Given the description of an element on the screen output the (x, y) to click on. 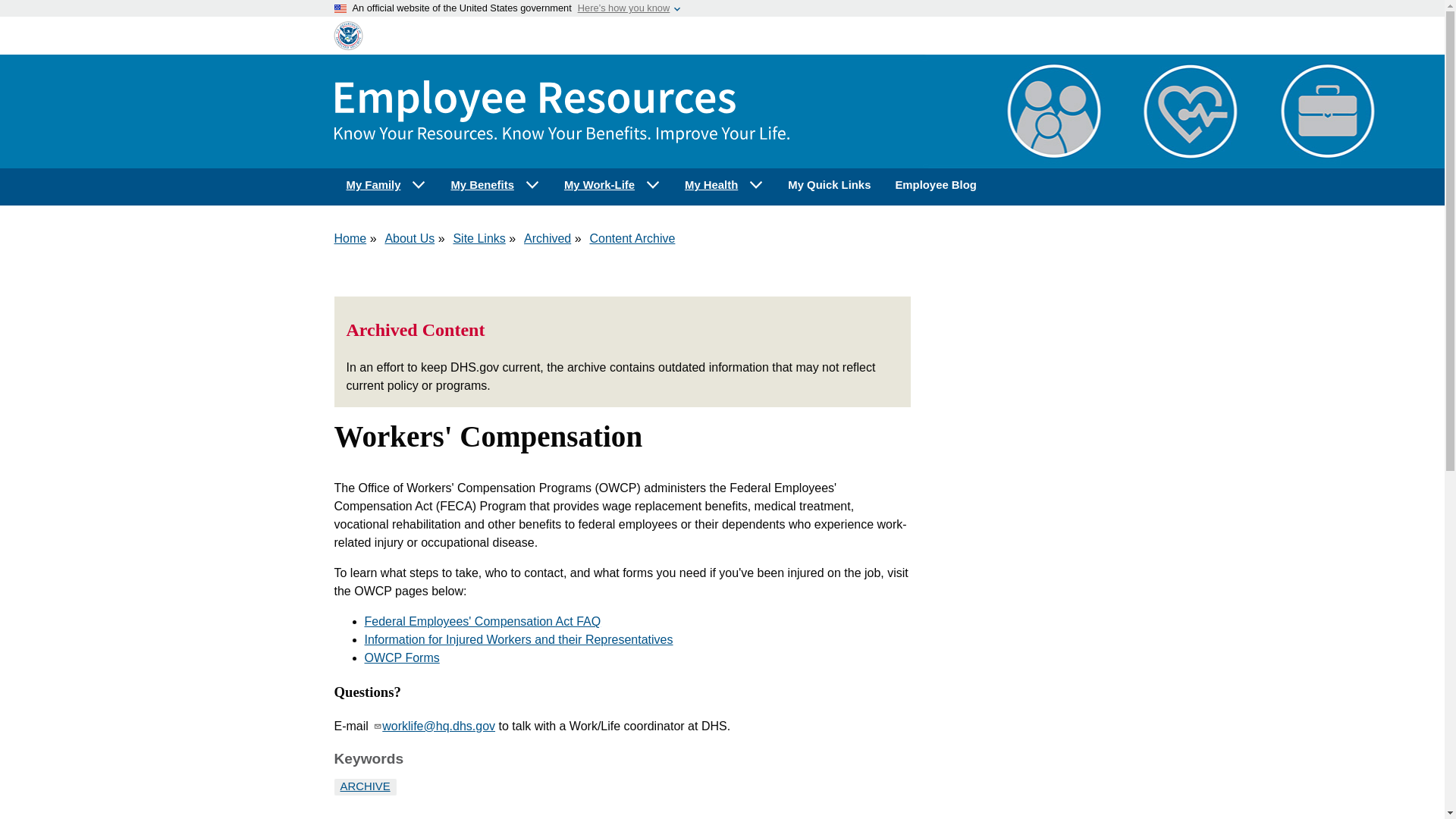
OWCP Forms (401, 657)
My Family (385, 185)
Information for Injured Workers and their Representatives (518, 639)
Site Links (478, 237)
About Us (408, 237)
Content Archive (632, 237)
Archived (547, 237)
My Benefits (494, 185)
ARCHIVE (364, 786)
Home (349, 237)
Federal Employees' Compensation Act FAQ (481, 621)
My Work-Life (611, 185)
My Health (724, 185)
Employee Blog (935, 185)
